Given the description of an element on the screen output the (x, y) to click on. 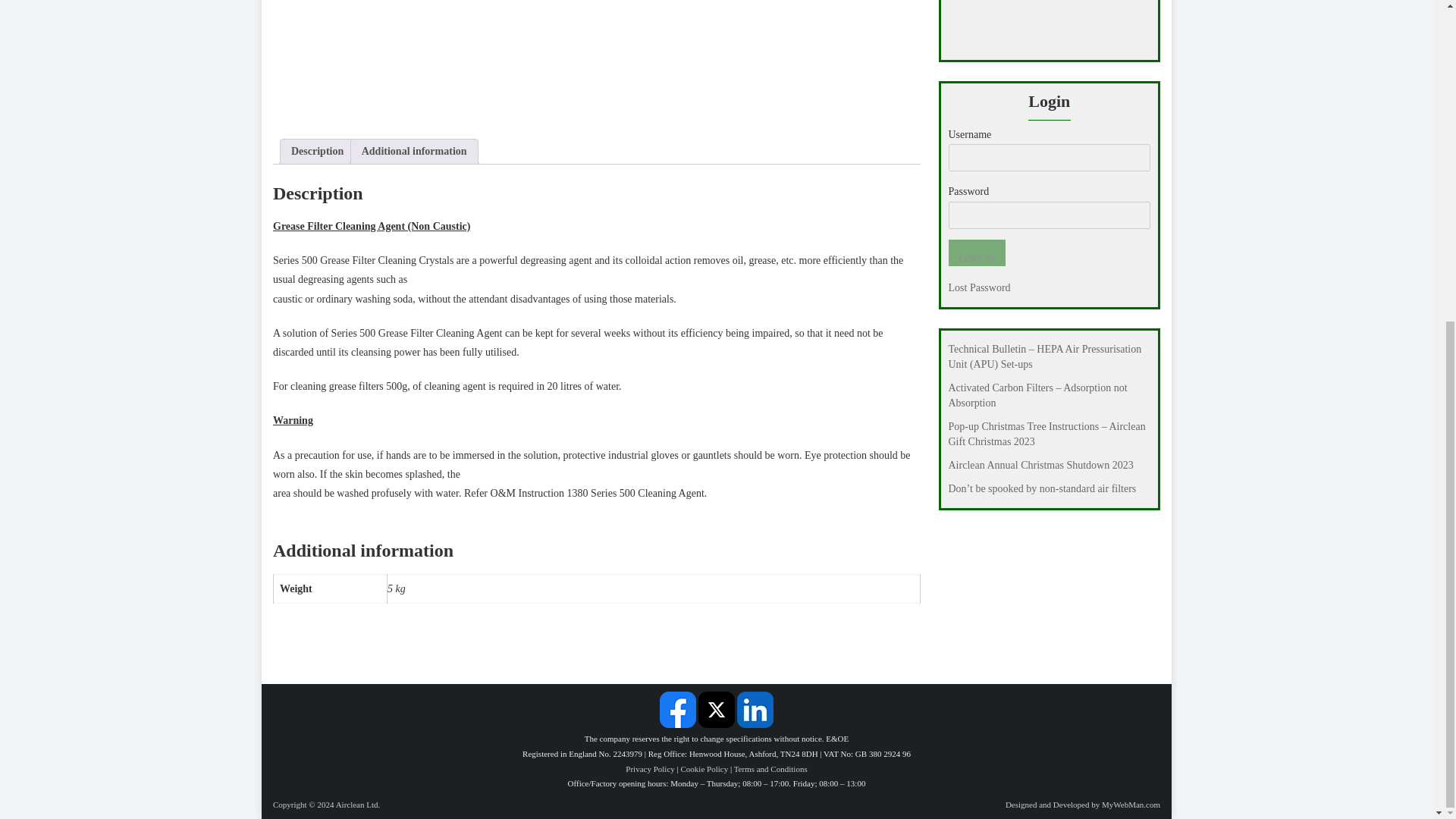
Log In (975, 252)
